Given the description of an element on the screen output the (x, y) to click on. 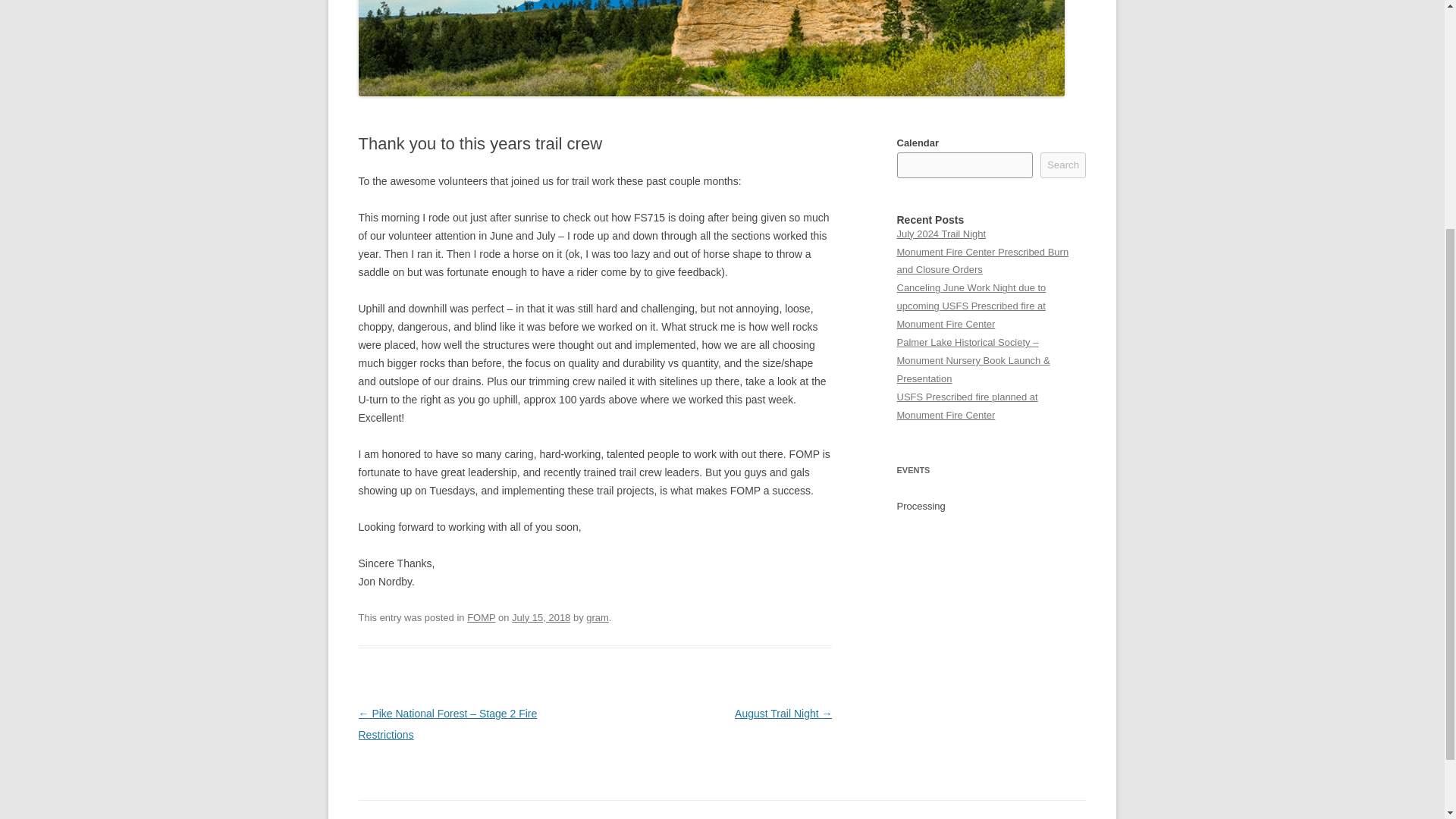
View all posts by gram (597, 617)
gram (597, 617)
USFS Prescribed fire planned at Monument Fire Center (966, 405)
July 15, 2018 (541, 617)
July 2024 Trail Night (940, 233)
Monument Fire Center Prescribed Burn and Closure Orders (982, 261)
Search (1063, 165)
10:03 pm (541, 617)
FOMP (481, 617)
